Given the description of an element on the screen output the (x, y) to click on. 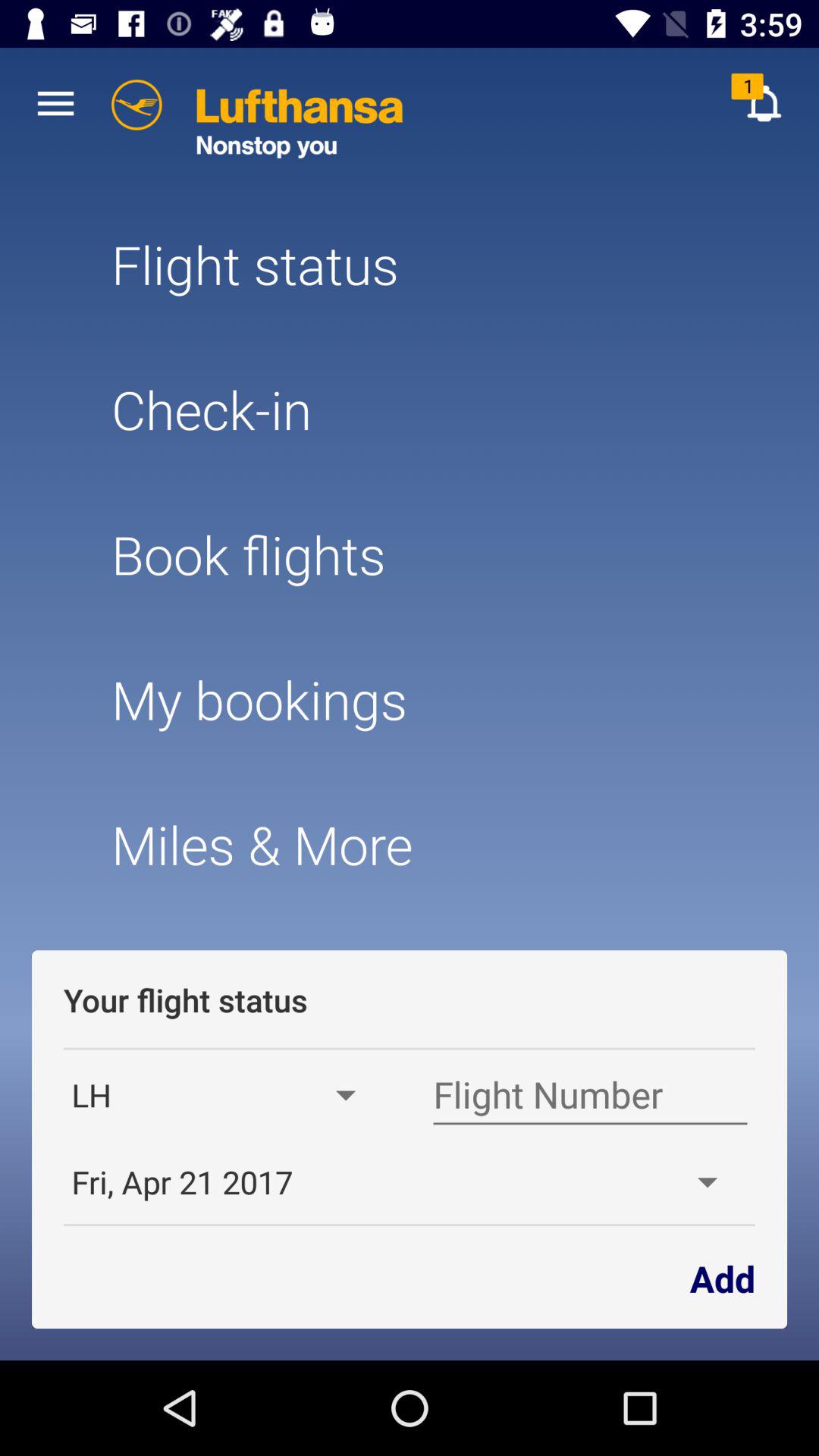
enter flight number (590, 1094)
